Given the description of an element on the screen output the (x, y) to click on. 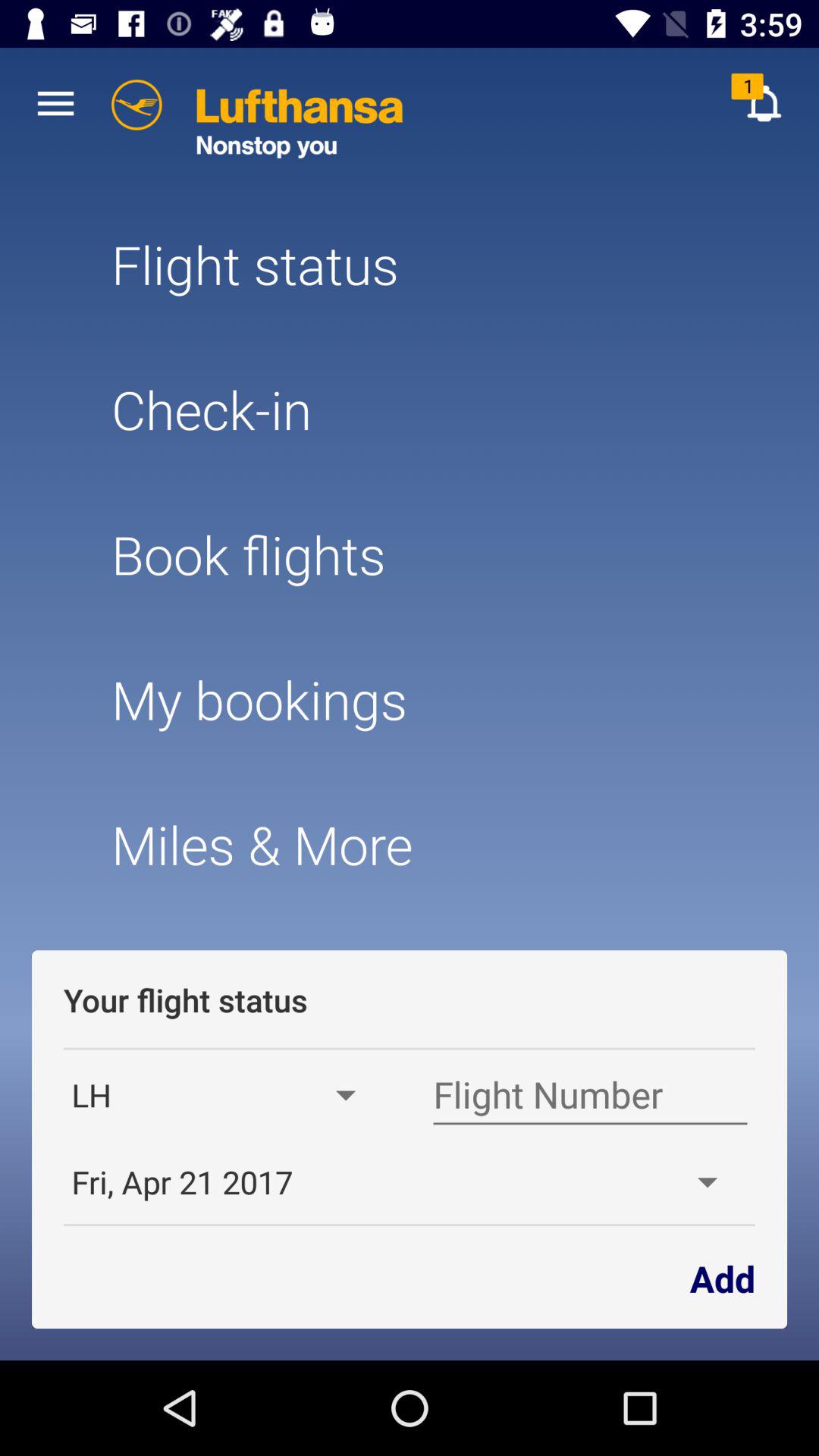
enter flight number (590, 1094)
